Given the description of an element on the screen output the (x, y) to click on. 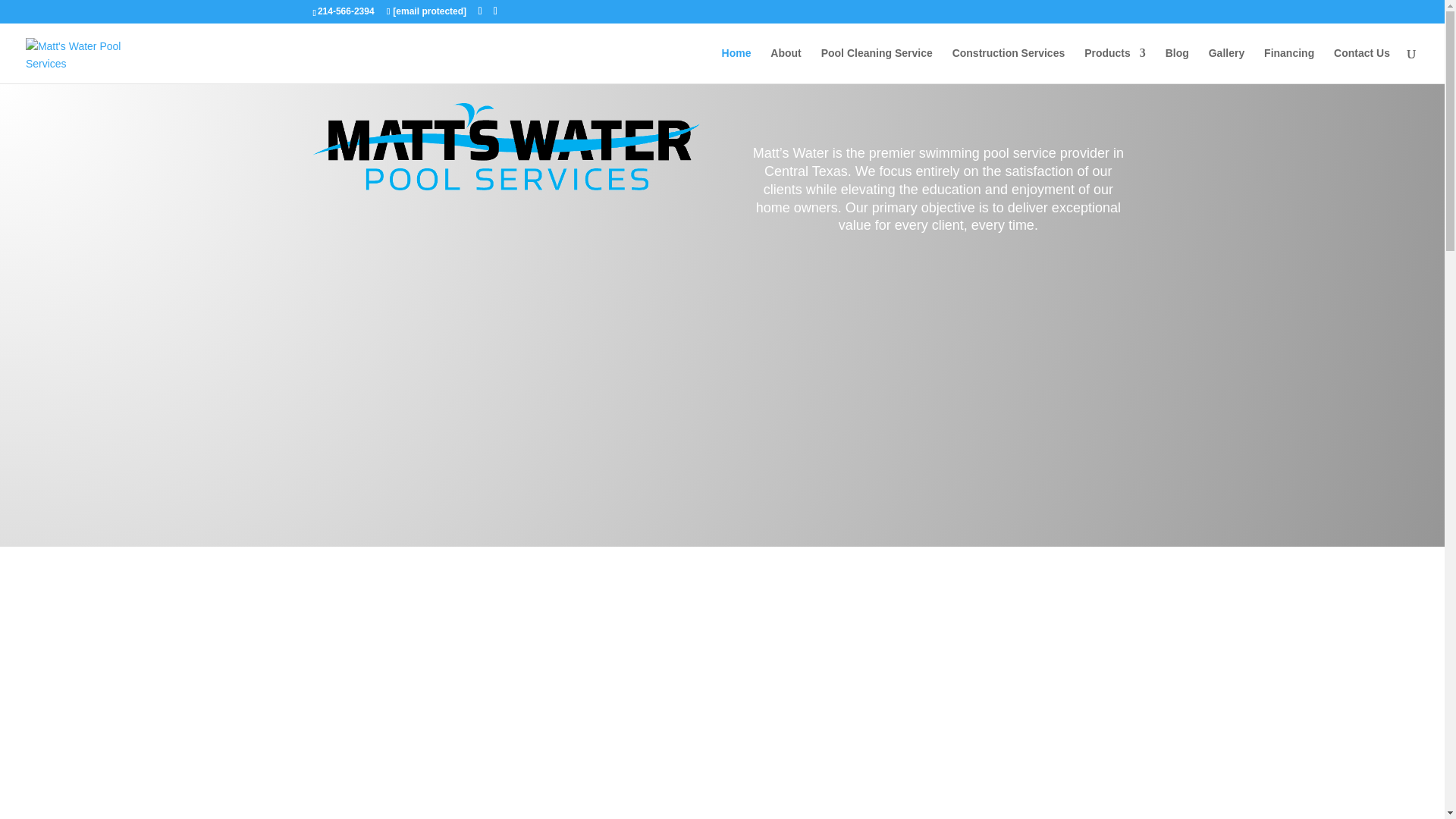
Gallery (1226, 65)
Pool Cleaning Service (877, 65)
Products (1114, 65)
Construction Services (1008, 65)
Financing (1288, 65)
Contact Us (1361, 65)
